Given the description of an element on the screen output the (x, y) to click on. 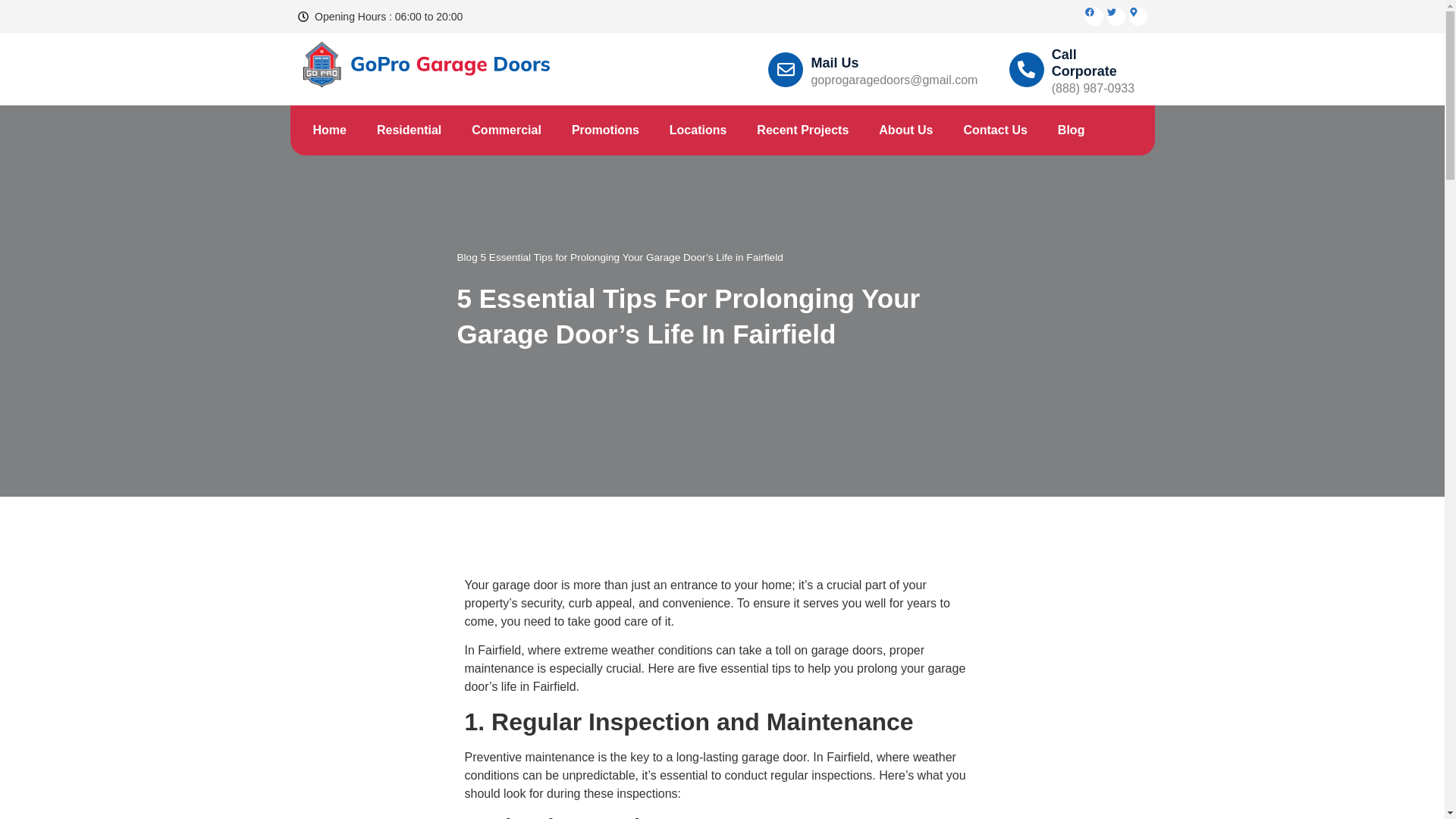
Locations (697, 130)
Home (329, 130)
Residential (409, 130)
Mail Us (834, 62)
Commercial (506, 130)
Promotions (604, 130)
Call Corporate (1083, 62)
